Given the description of an element on the screen output the (x, y) to click on. 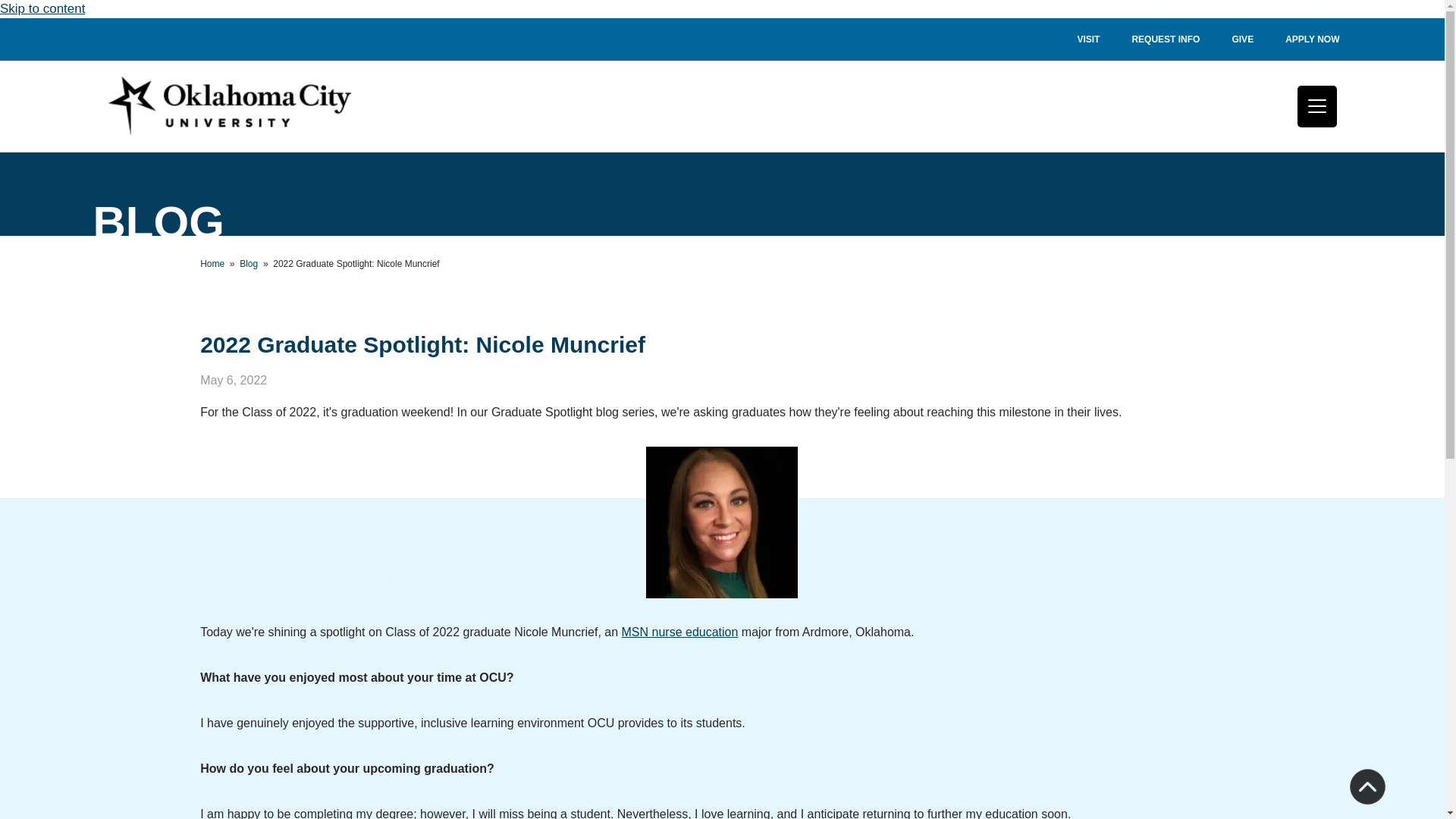
Skip to content (42, 8)
APPLY NOW (1311, 39)
GIVE (1242, 39)
VISIT (1088, 39)
REQUEST INFO (1165, 39)
